Given the description of an element on the screen output the (x, y) to click on. 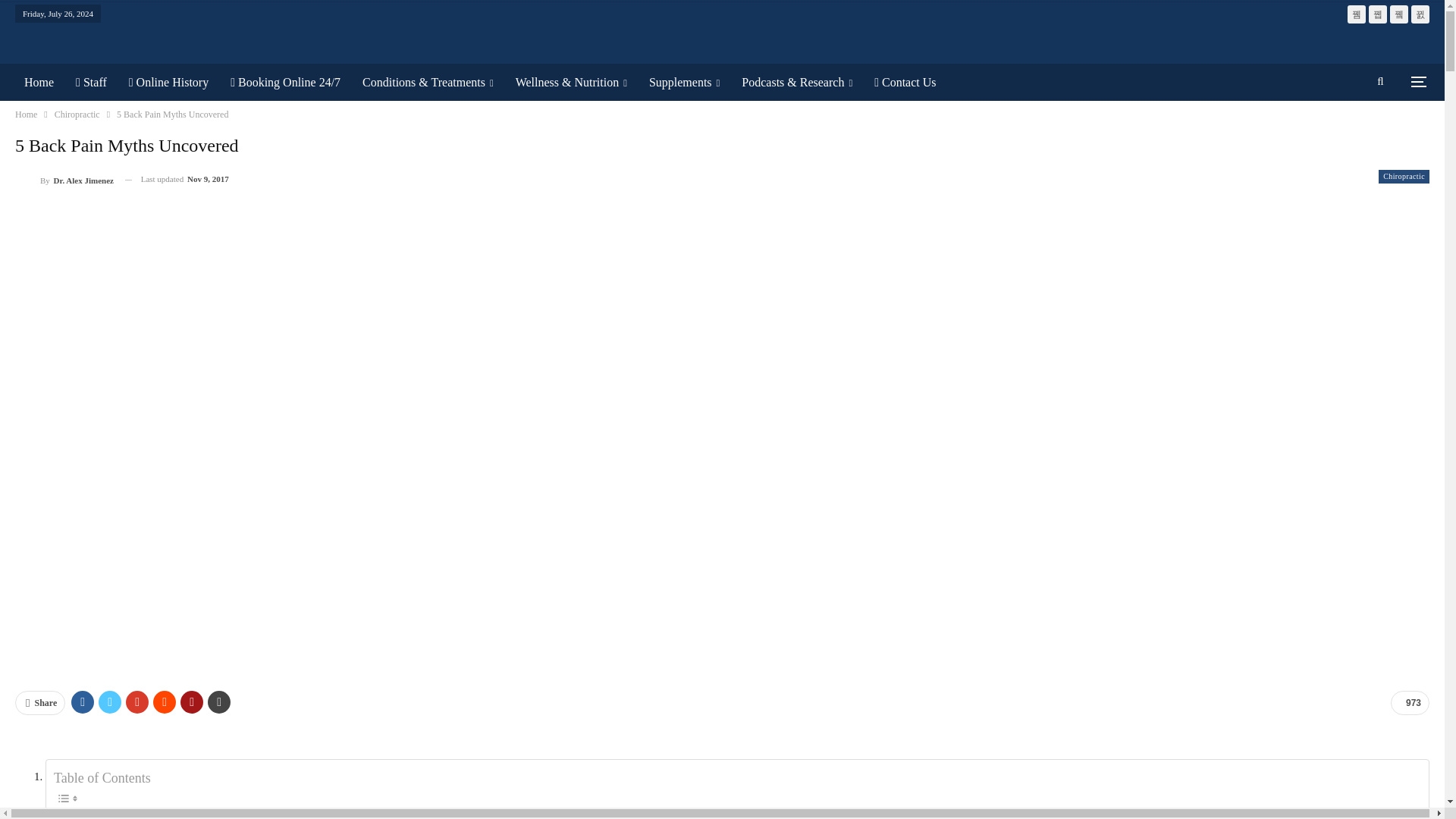
Browse Author Articles (63, 178)
Home (38, 82)
